Given the description of an element on the screen output the (x, y) to click on. 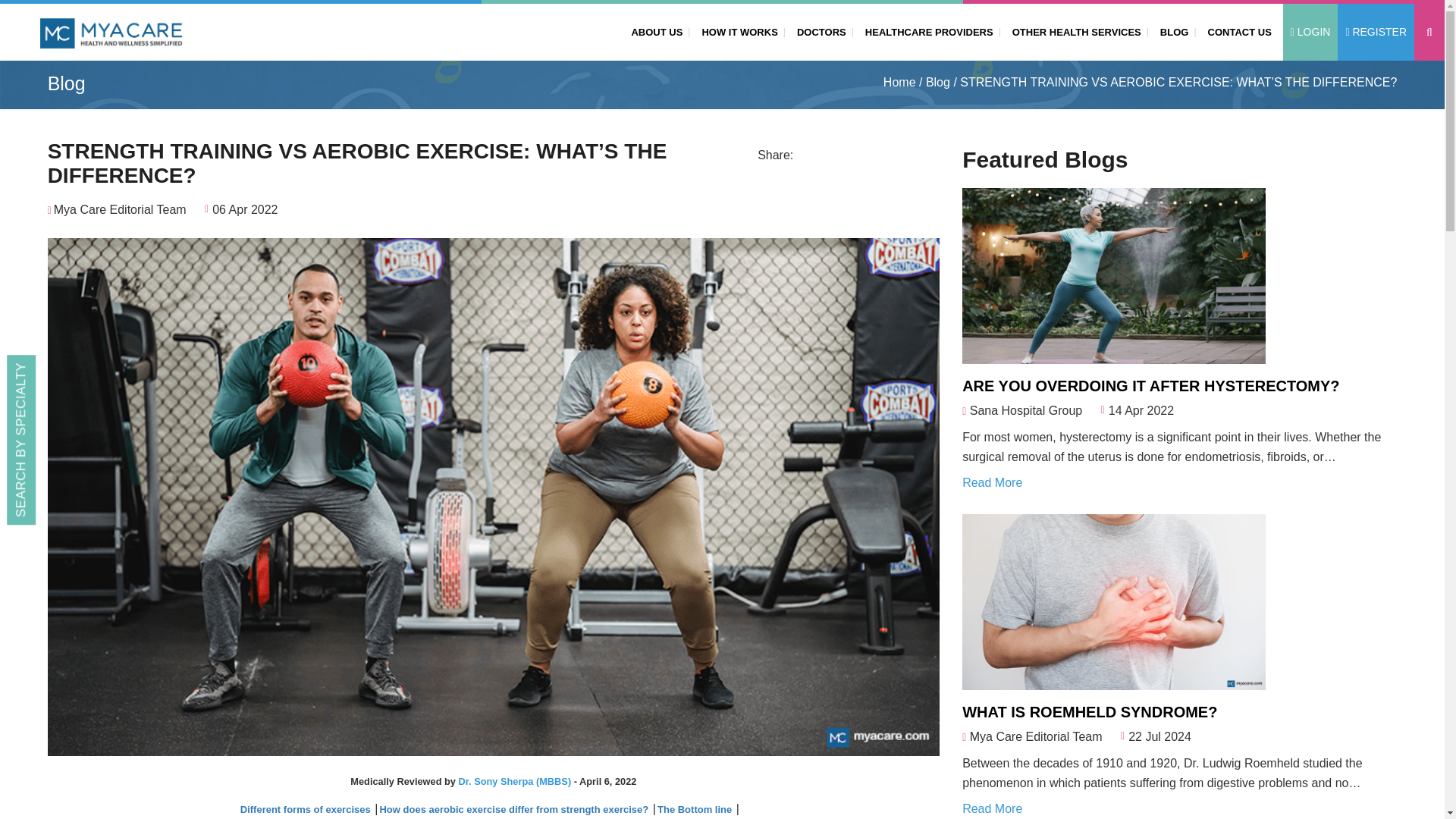
OTHER HEALTH SERVICES (1073, 31)
Home (899, 82)
LOGIN (1310, 32)
Blog (938, 82)
CONTACT US (1236, 31)
How does aerobic exercise differ from strength exercise? (514, 808)
REGISTER (1375, 32)
HOW IT WORKS (736, 31)
HEALTHCARE PROVIDERS (925, 31)
Different forms of exercises (306, 808)
